Given the description of an element on the screen output the (x, y) to click on. 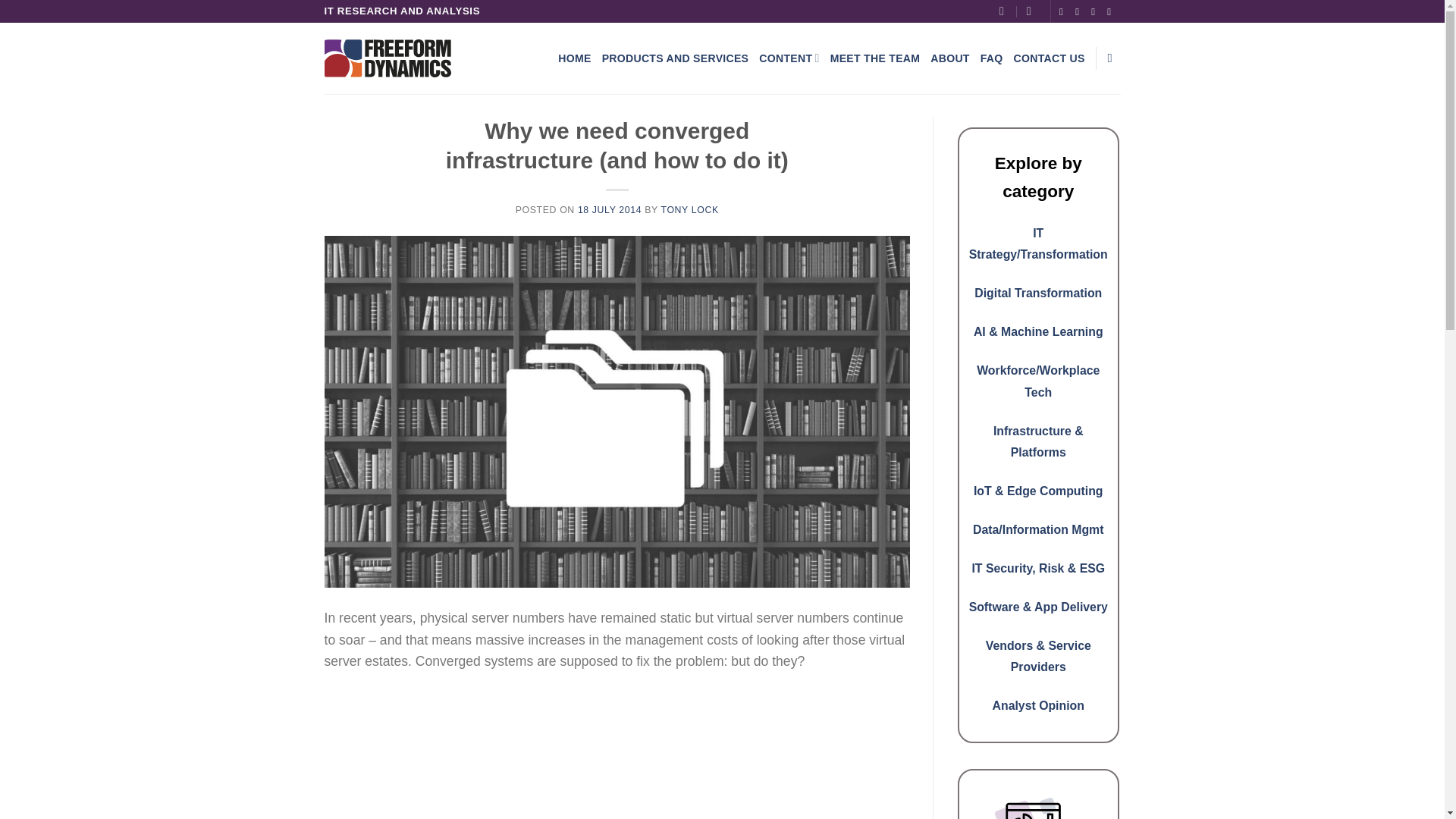
PRODUCTS AND SERVICES (675, 58)
MEET THE TEAM (874, 58)
Freeform Dynamics - IT Research and Analysis (387, 57)
CONTACT US (1048, 58)
ABOUT (949, 58)
18 JULY 2014 (610, 209)
HOME (574, 58)
CONTENT (788, 57)
TONY LOCK (689, 209)
